Given the description of an element on the screen output the (x, y) to click on. 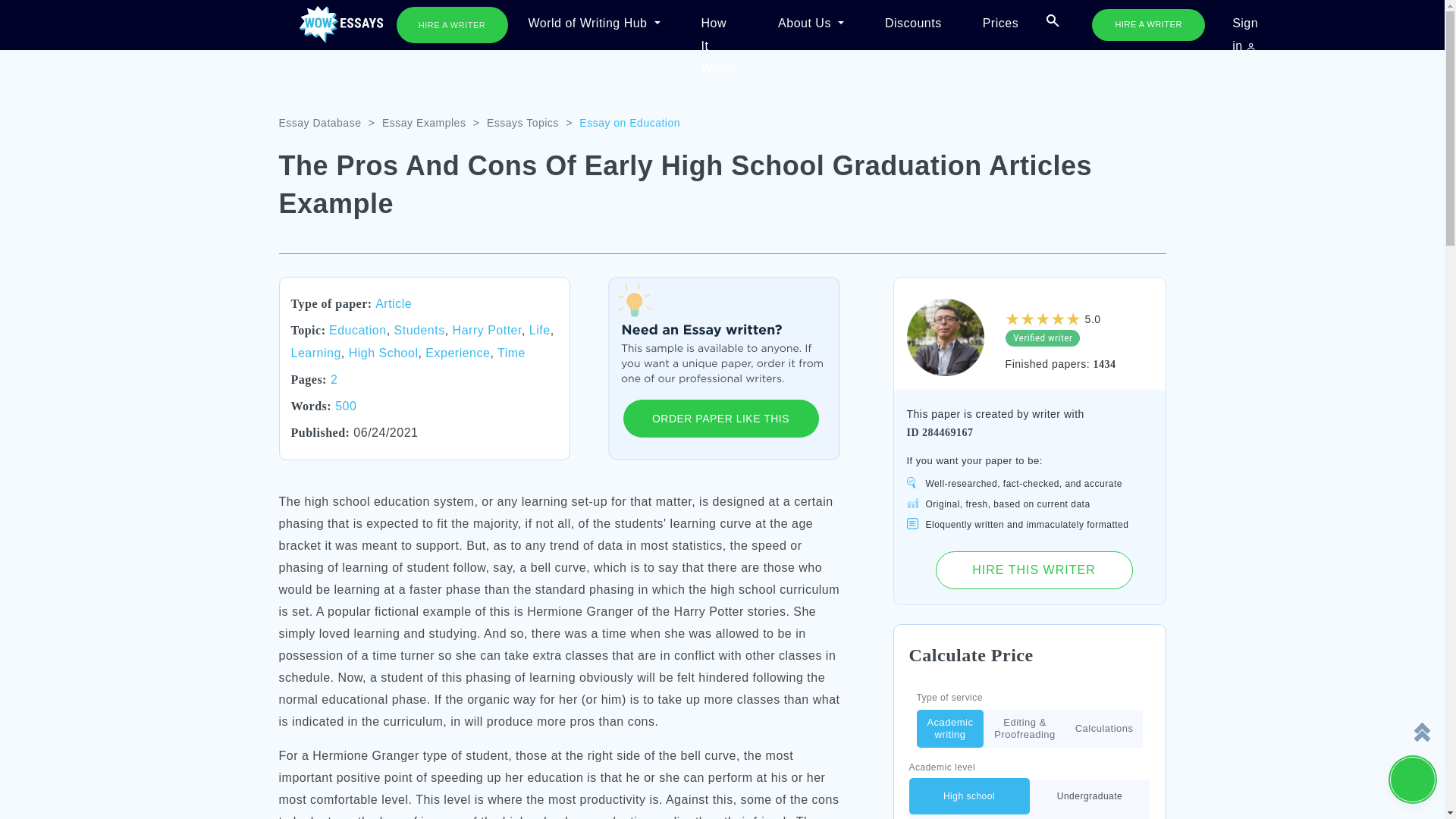
Harry Potter (486, 329)
Discounts (912, 24)
Essays Topics (522, 122)
Essays Topics (522, 122)
Prices (1000, 24)
Sign in (1244, 24)
How It Works (719, 24)
Students (419, 329)
Education (358, 329)
HIRE A WRITER (1148, 24)
